Given the description of an element on the screen output the (x, y) to click on. 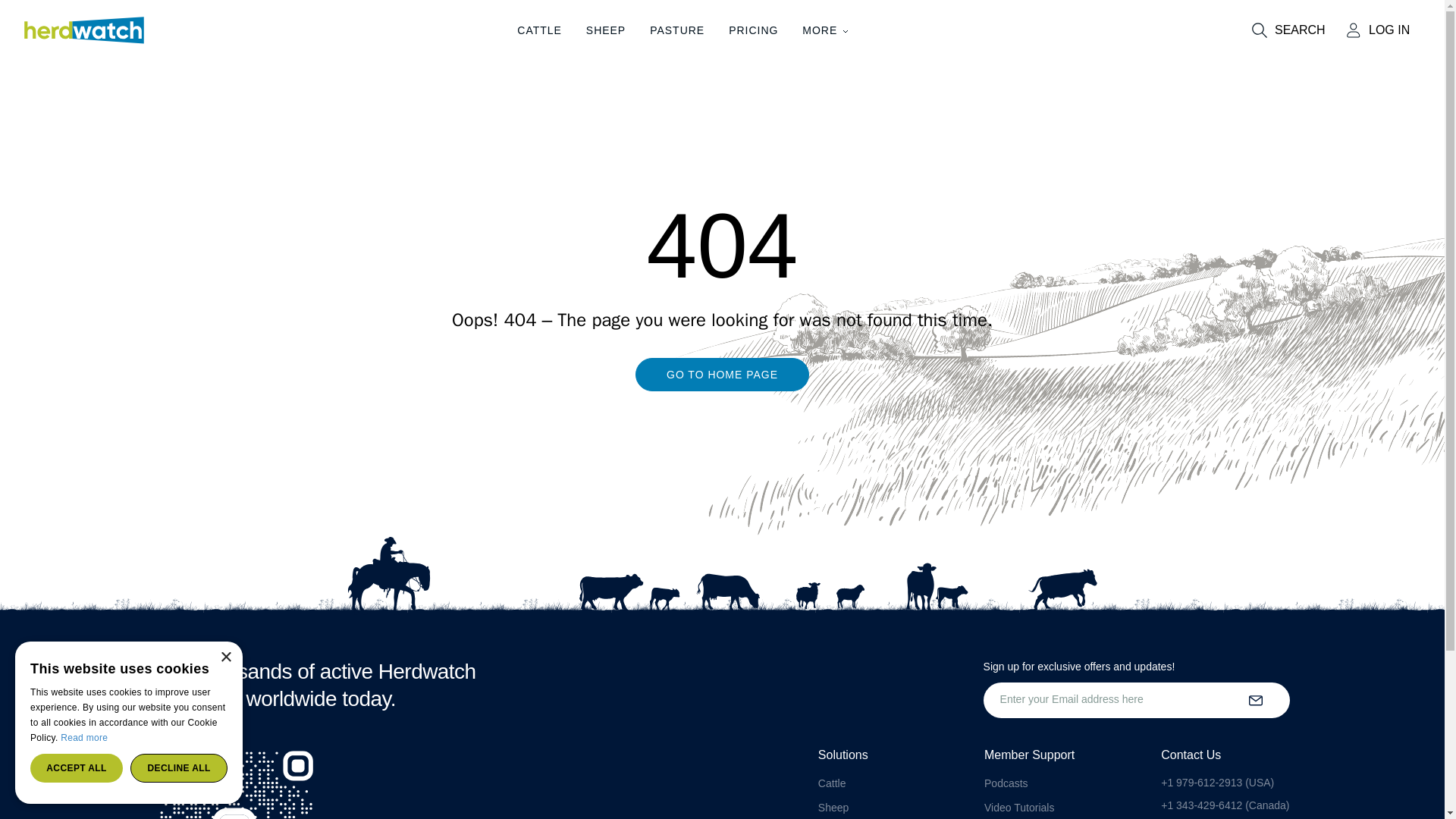
LOG IN (1382, 30)
Cattle (831, 783)
Sheep (833, 807)
Video Tutorials (1019, 807)
Podcasts (1005, 783)
SHEEP (606, 30)
PRICING (753, 30)
CATTLE (539, 30)
PASTURE (676, 30)
MORE (825, 30)
GO TO HOME PAGE (721, 389)
